Given the description of an element on the screen output the (x, y) to click on. 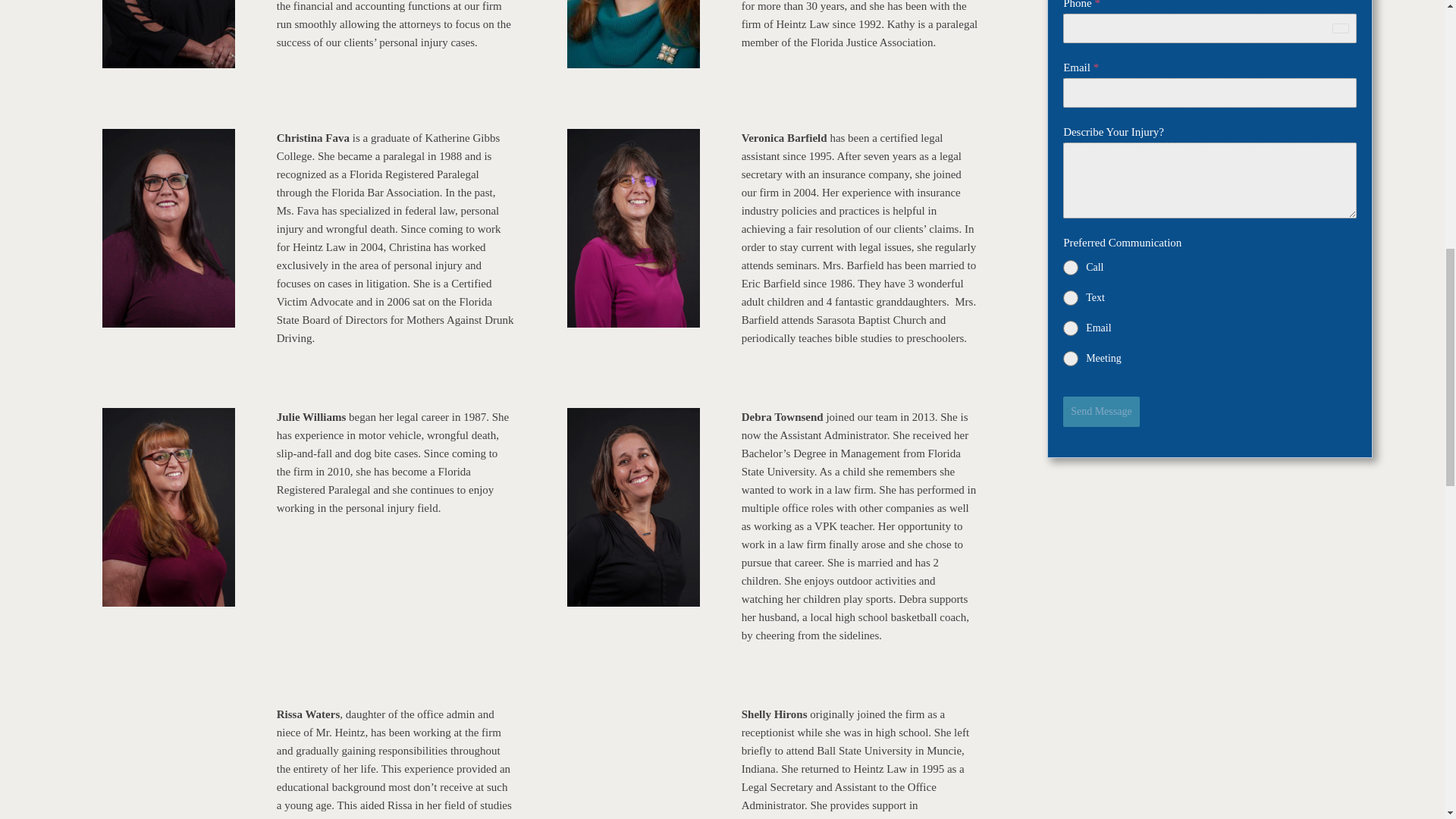
Email (1209, 328)
Call (1209, 267)
Meeting (1209, 358)
Text (1209, 297)
